Given the description of an element on the screen output the (x, y) to click on. 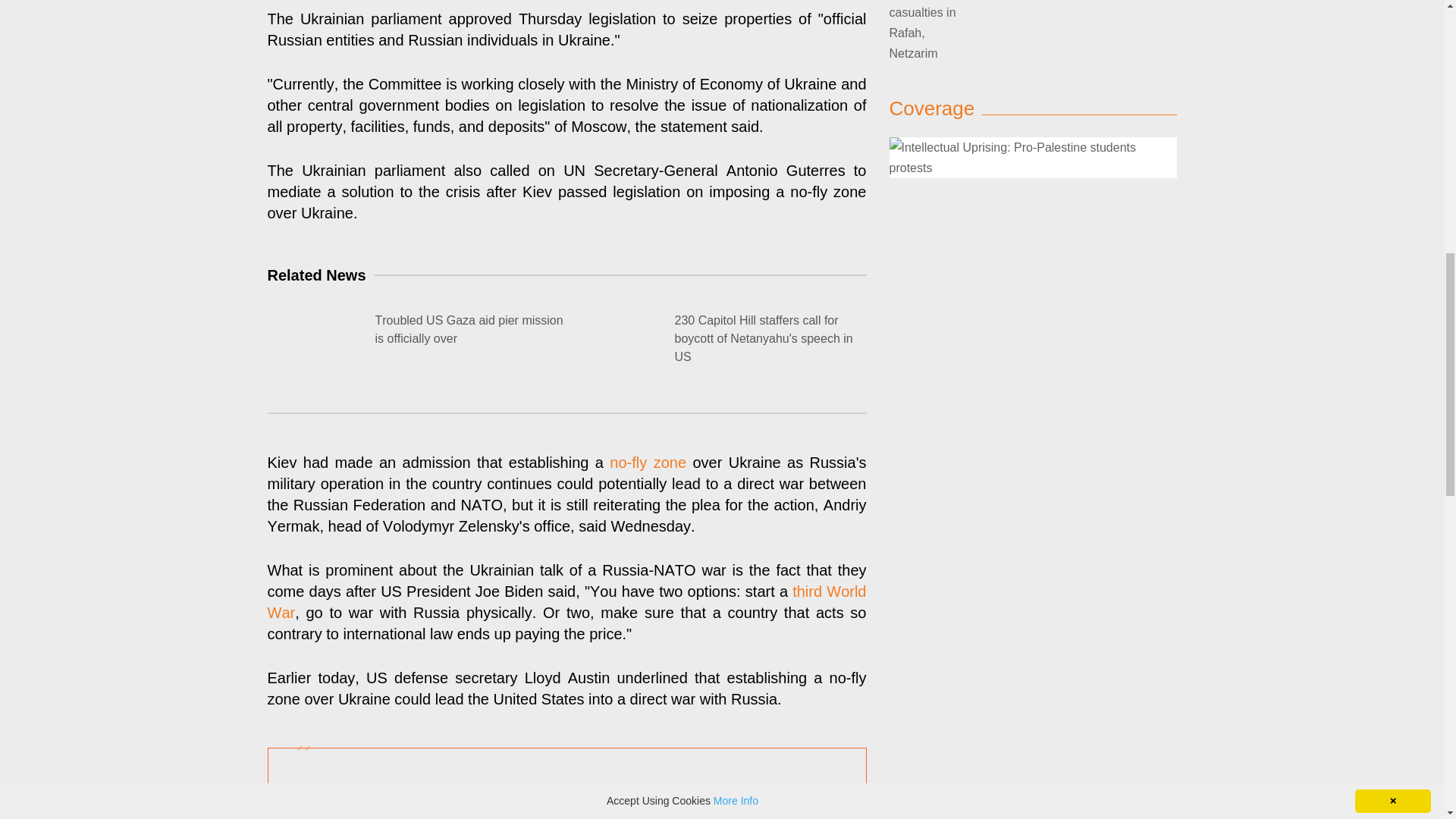
IOF suffers heavy casualties in Rafah, Netzarim (922, 32)
Intellectual Uprising: Pro-Palestine students protests (1032, 157)
